Given the description of an element on the screen output the (x, y) to click on. 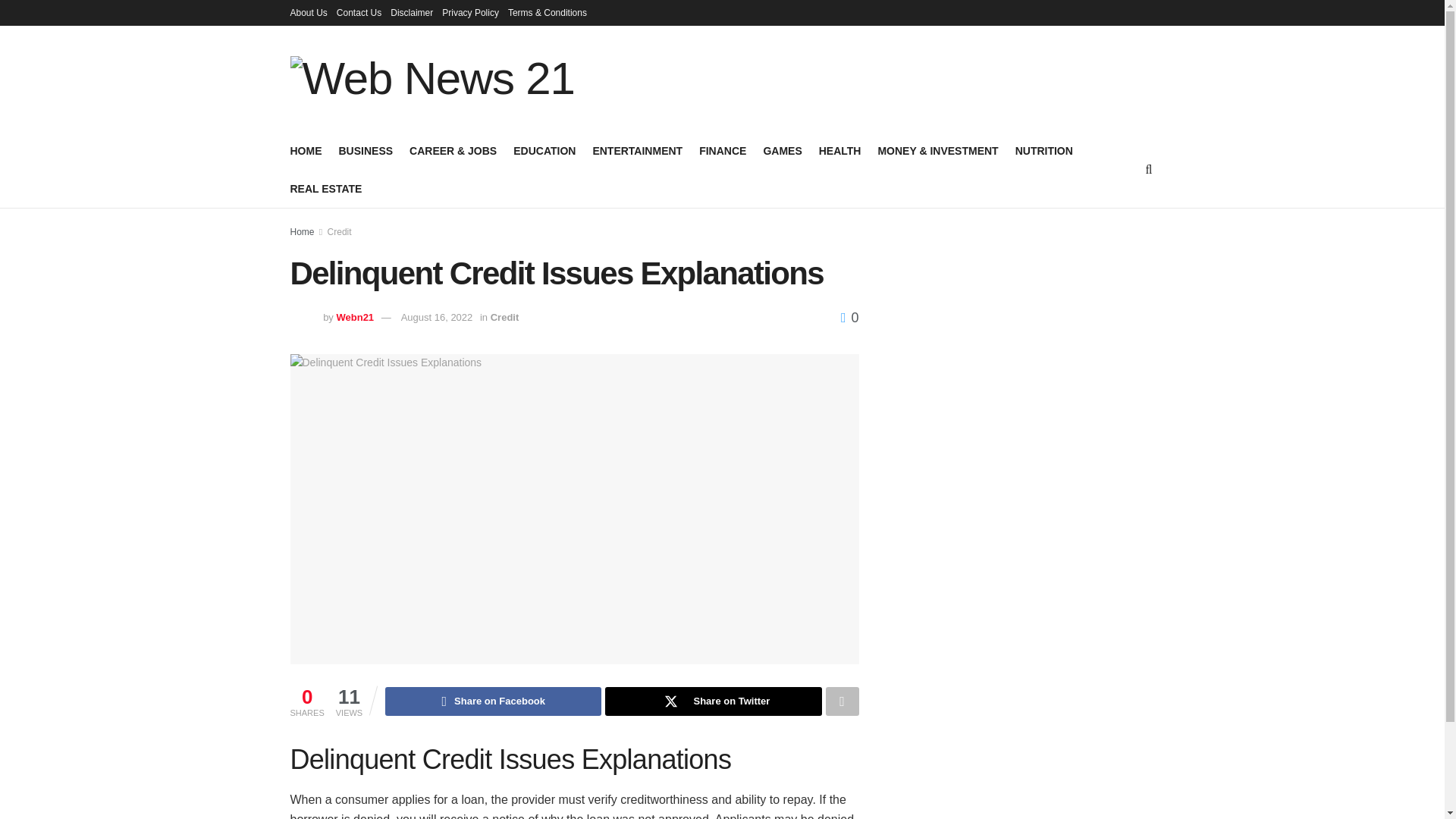
Disclaimer (411, 12)
EDUCATION (544, 150)
NUTRITION (1043, 150)
REAL ESTATE (325, 188)
Credit (339, 231)
GAMES (782, 150)
Contact Us (358, 12)
BUSINESS (365, 150)
ENTERTAINMENT (637, 150)
Home (301, 231)
